Given the description of an element on the screen output the (x, y) to click on. 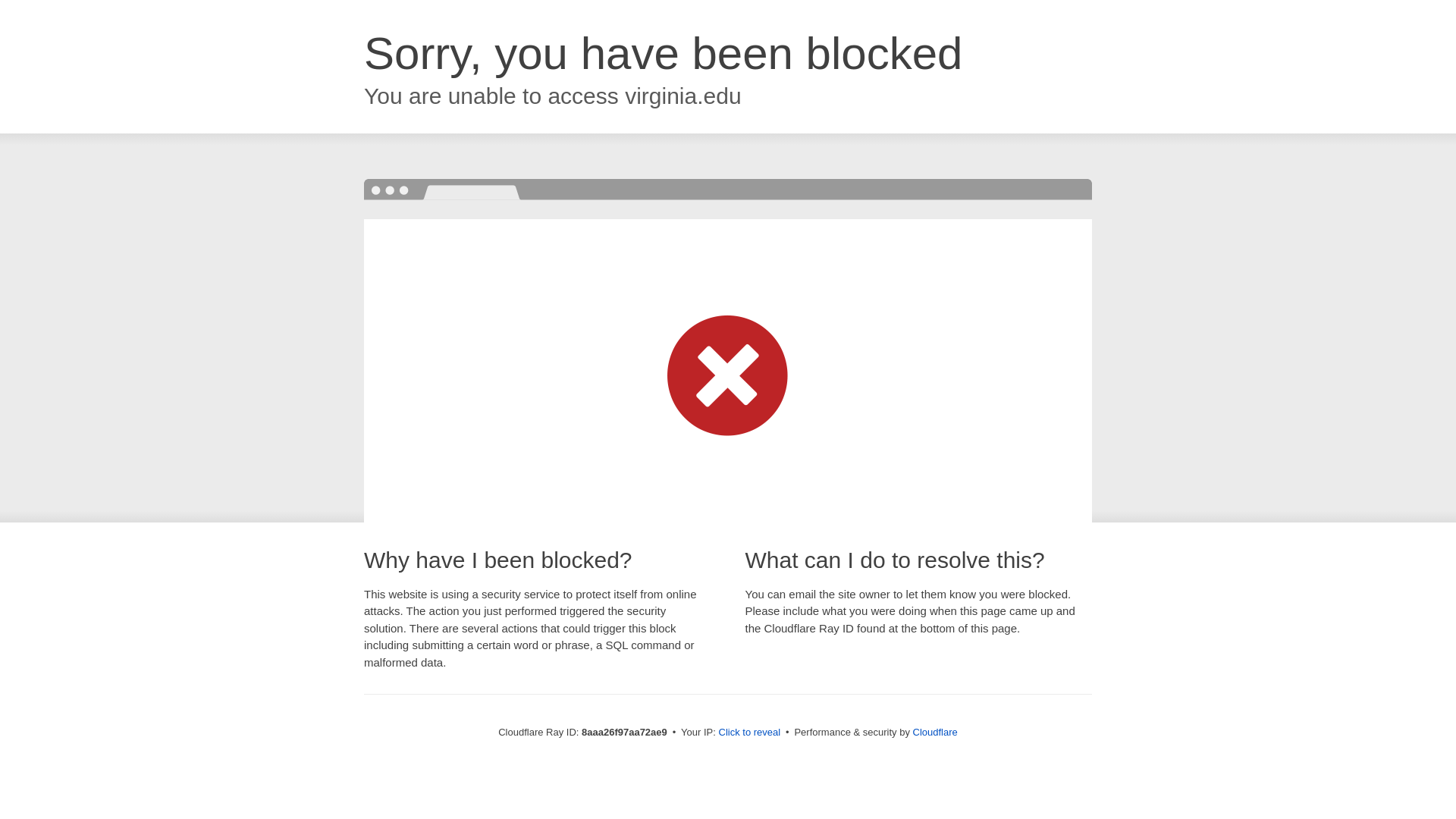
Cloudflare (935, 731)
Click to reveal (749, 732)
